Given the description of an element on the screen output the (x, y) to click on. 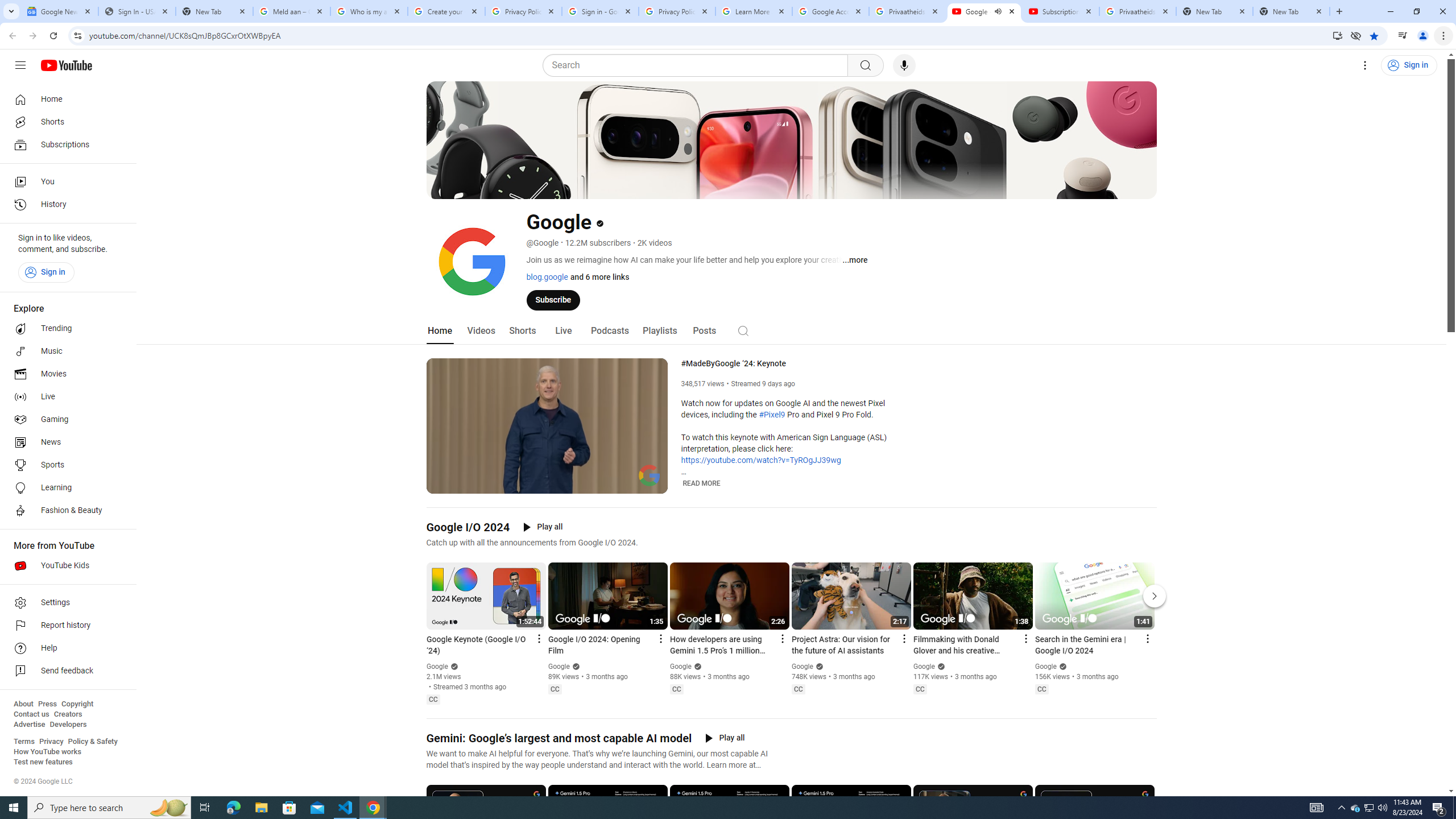
Google - YouTube - Audio playing (983, 11)
Subscriptions - YouTube (1061, 11)
Podcasts (608, 330)
Subscribe (552, 299)
blog.google (546, 276)
About (23, 703)
Shorts (64, 121)
